Given the description of an element on the screen output the (x, y) to click on. 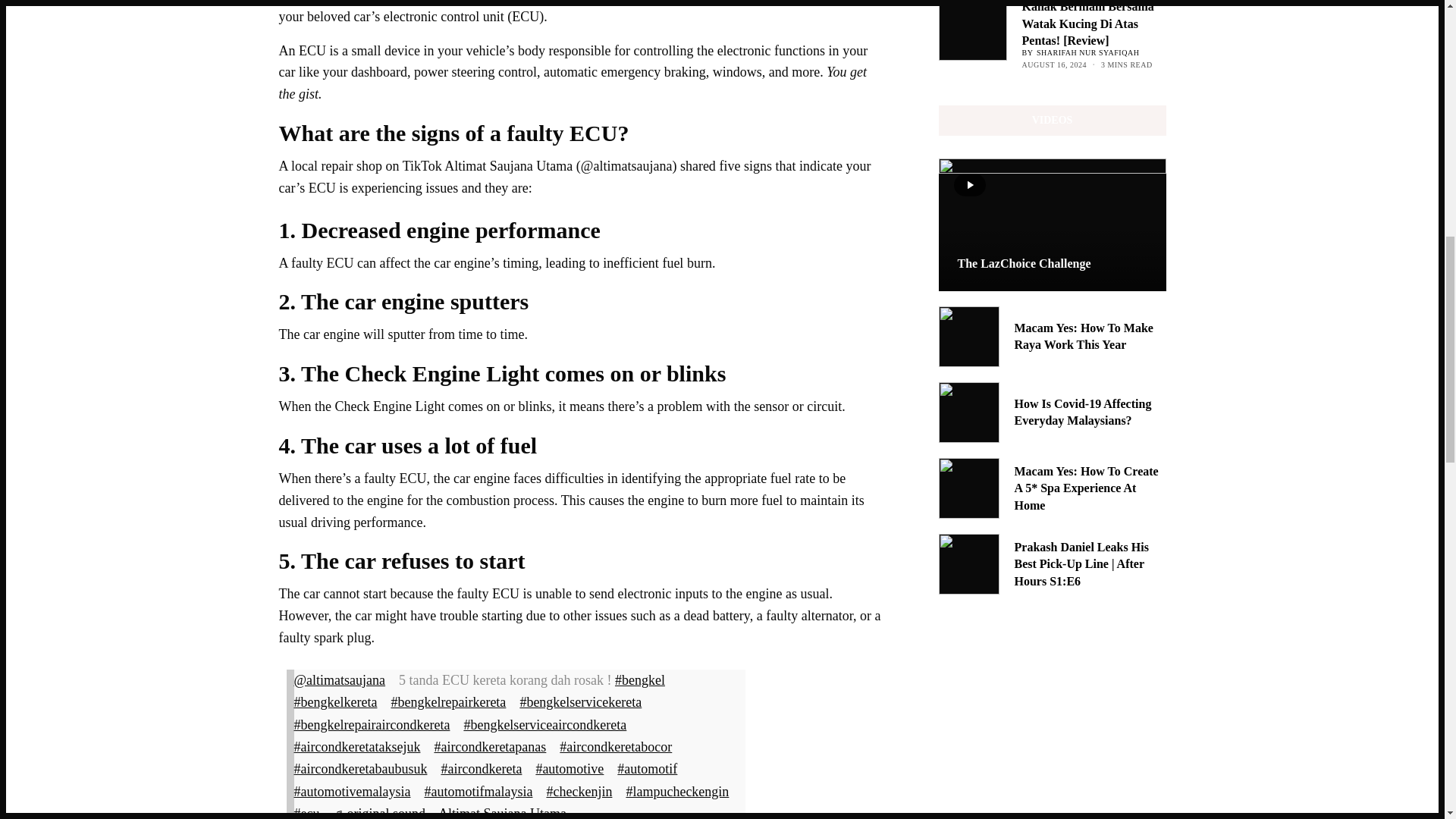
aircondkeretataksejuk (362, 746)
bengkelrepairkereta (452, 702)
bengkelkereta (340, 702)
bengkel (644, 679)
aircondkeretapanas (494, 746)
aircondkeretabocor (620, 746)
bengkelserviceaircondkereta (549, 724)
bengkelrepairaircondkereta (377, 724)
bengkelservicekereta (584, 702)
